Given the description of an element on the screen output the (x, y) to click on. 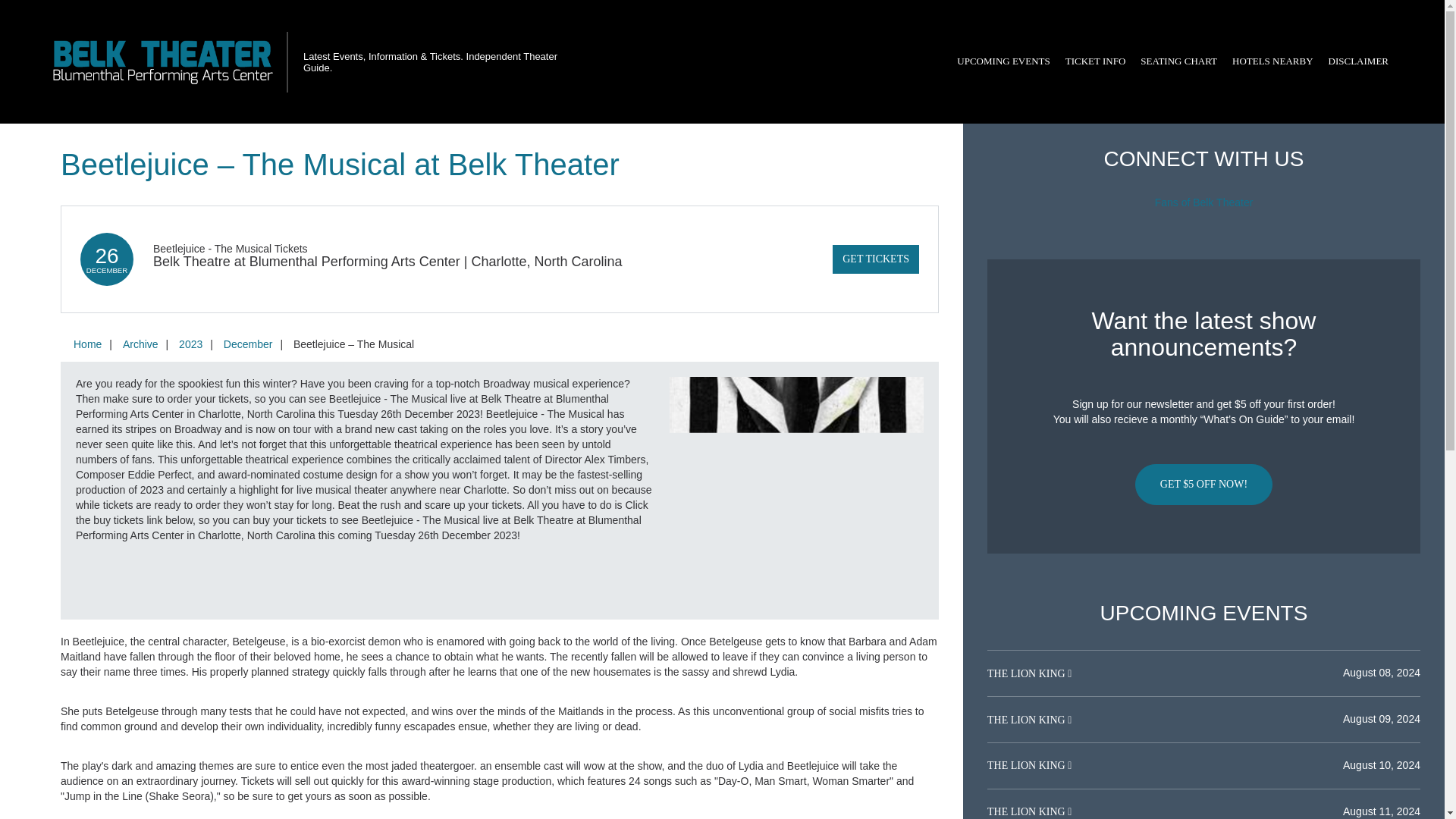
THE LION KING (1027, 765)
UPCOMING EVENTS (1003, 61)
DISCLAIMER (1358, 61)
SEATING CHART (1178, 61)
THE LION KING (1027, 811)
THE LION KING (1027, 719)
HOTELS NEARBY (1272, 61)
GET TICKETS (875, 258)
December (248, 344)
TICKET INFO (1096, 61)
Archive (140, 344)
2023 (190, 344)
Home (87, 344)
Beetlejuice - The Musical Tickets (229, 248)
THE LION KING (1027, 673)
